Given the description of an element on the screen output the (x, y) to click on. 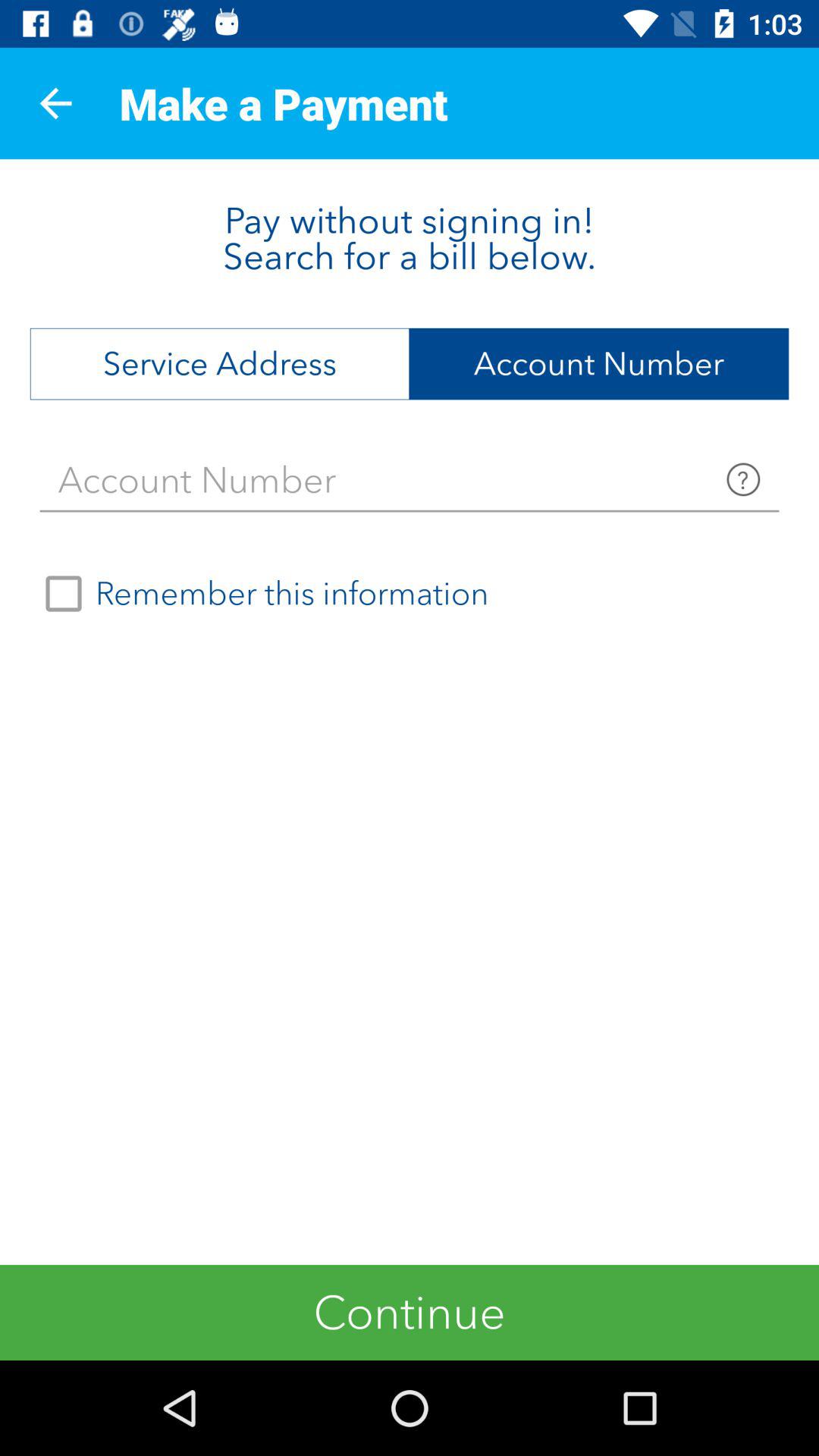
click the remember this information on the left (259, 593)
